Given the description of an element on the screen output the (x, y) to click on. 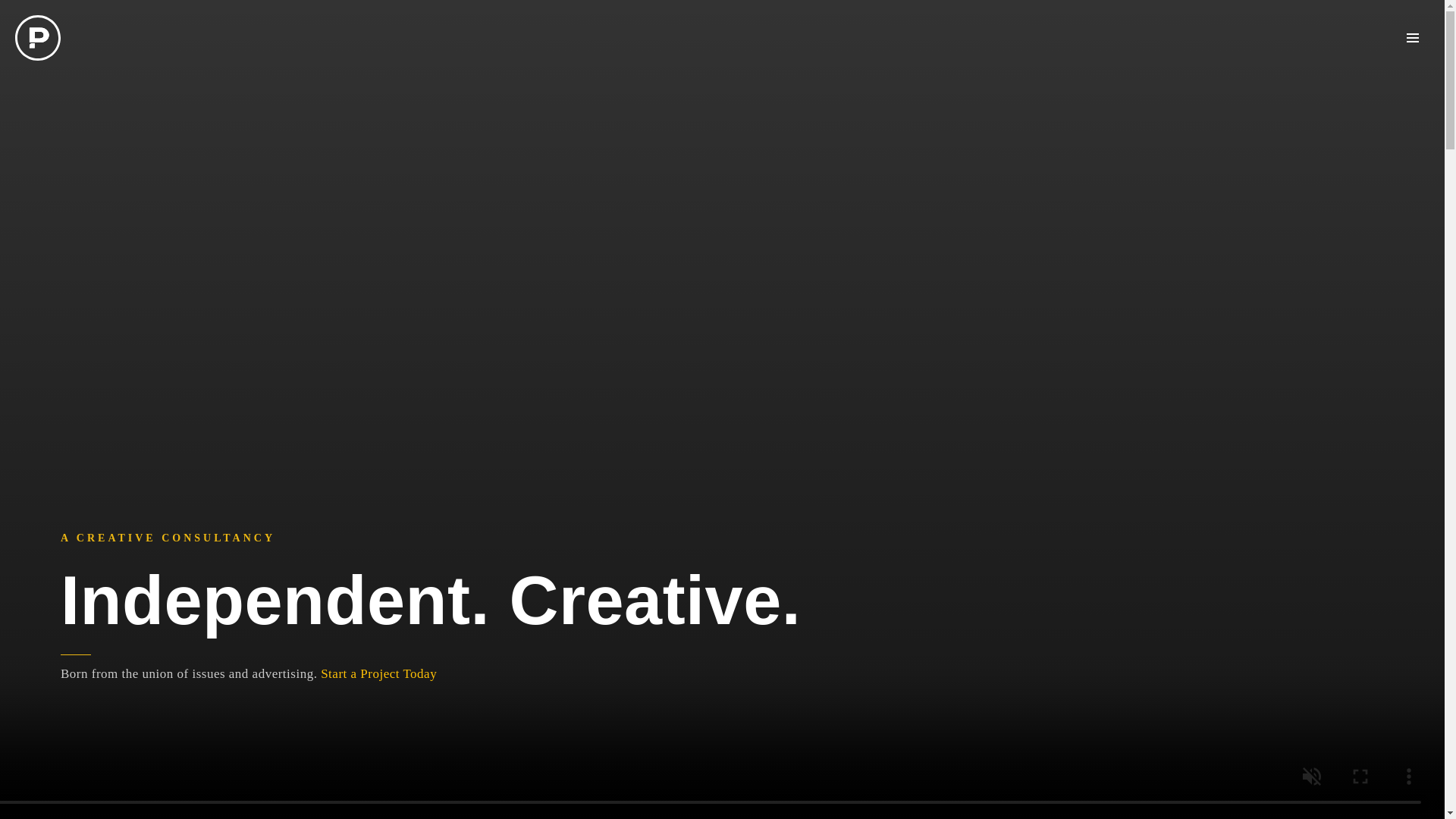
Start a Project Today (378, 673)
